Given the description of an element on the screen output the (x, y) to click on. 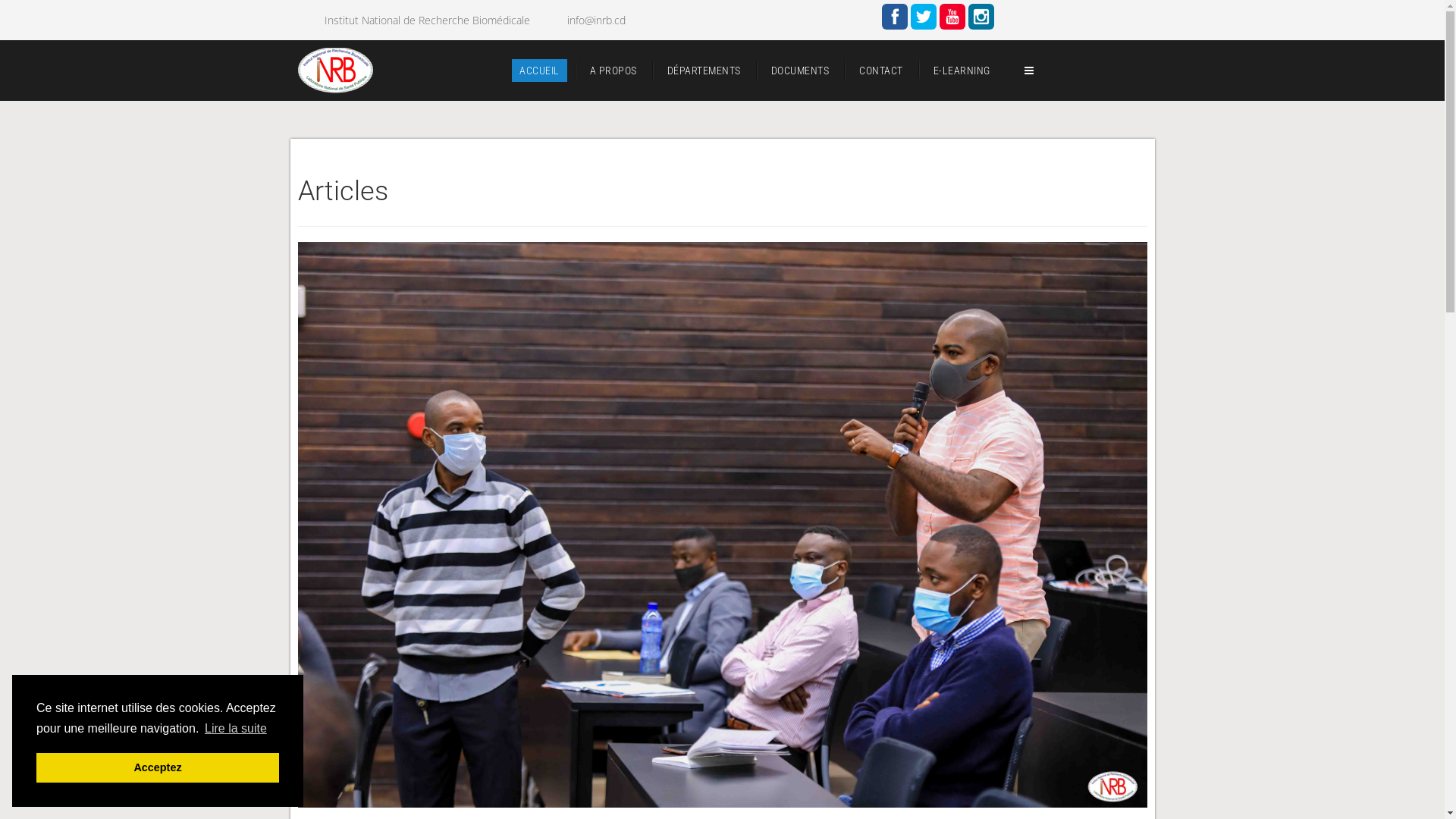
A PROPOS Element type: text (613, 70)
ACCUEIL Element type: text (539, 70)
Lire la suite Element type: text (235, 728)
E-LEARNING Element type: text (961, 70)
Facebook Element type: hover (894, 16)
Youtube Element type: hover (952, 16)
Instagram Element type: hover (981, 16)
DOCUMENTS Element type: text (799, 70)
Acceptez Element type: text (157, 767)
CONTACT Element type: text (880, 70)
Twitter Element type: hover (923, 16)
